Given the description of an element on the screen output the (x, y) to click on. 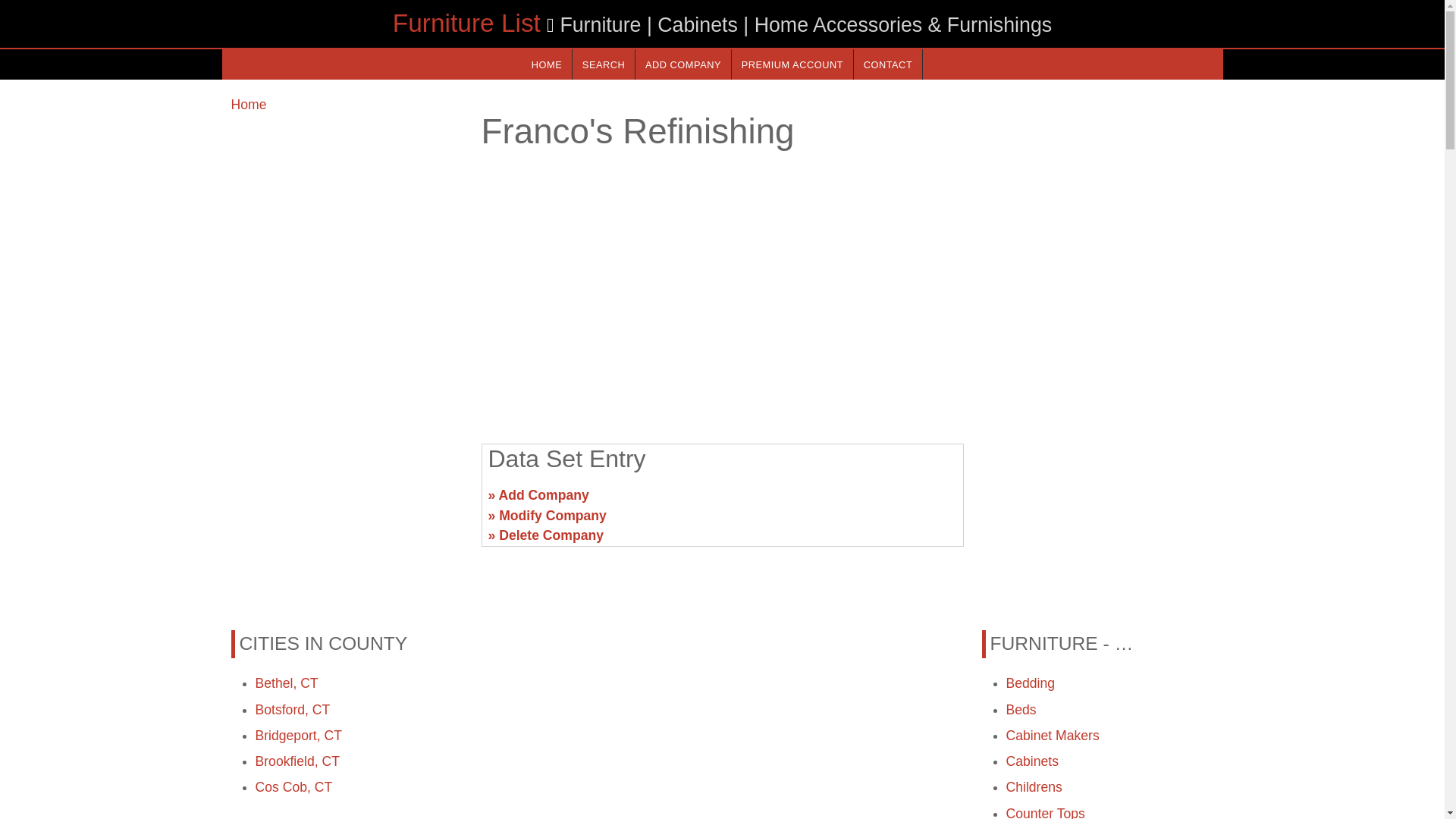
Childrens (1033, 786)
CONTACT (887, 64)
Cos Cob, CT (292, 786)
Furniture List (466, 22)
Add a new company (682, 64)
Botsford, CT (292, 709)
Beds (1020, 709)
Cabinet Makers (1052, 735)
Bridgeport, CT (297, 735)
